Given the description of an element on the screen output the (x, y) to click on. 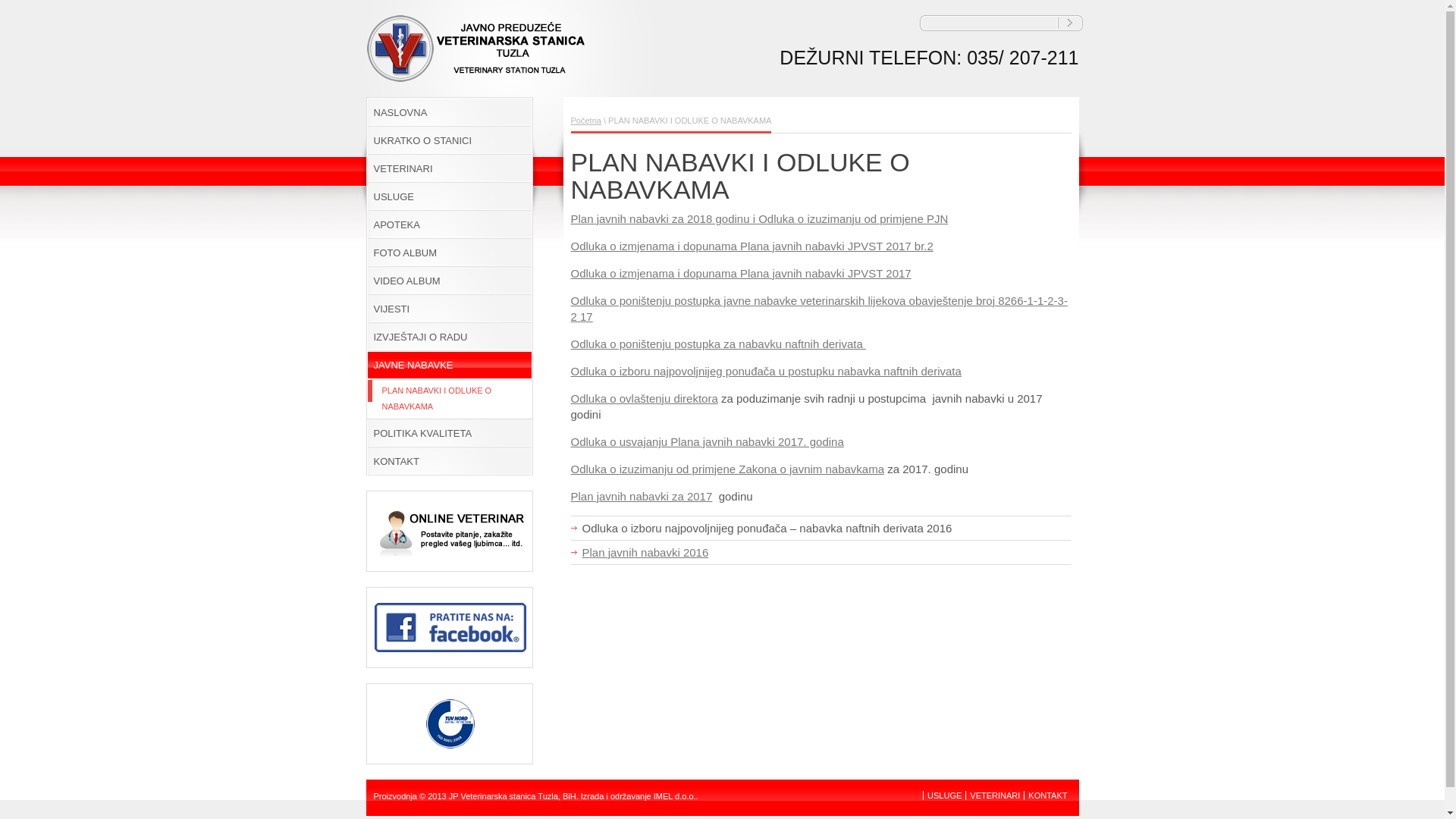
VIJESTI Element type: text (448, 308)
PLAN NABAVKI I ODLUKE O NABAVKAMA Element type: text (448, 399)
FOTO ALBUM Element type: text (448, 252)
USLUGE Element type: text (448, 196)
VETERINARI Element type: text (994, 795)
NASLOVNA Element type: text (448, 112)
USLUGE Element type: text (944, 795)
JAVNE NABAVKE Element type: text (448, 365)
Veterinarska stanica Tuzla Element type: hover (479, 77)
APOTEKA Element type: text (448, 224)
Odluka o izuzimanju od primjene Zakona o javnim nabavkama Element type: text (727, 468)
UKRATKO O STANICI Element type: text (448, 140)
POLITIKA KVALITETA Element type: text (448, 433)
KONTAKT Element type: text (1047, 795)
Odluka o usvajanju Plana javnih nabavki 2017. godina Element type: text (706, 441)
IMEL d.o.o. Element type: text (674, 795)
Plan javnih nabavki 2016 Element type: text (645, 552)
KONTAKT Element type: text (448, 461)
VETERINARI Element type: text (448, 168)
Plan javnih nabavki za 2017 Element type: text (641, 495)
VIDEO ALBUM Element type: text (448, 280)
